Given the description of an element on the screen output the (x, y) to click on. 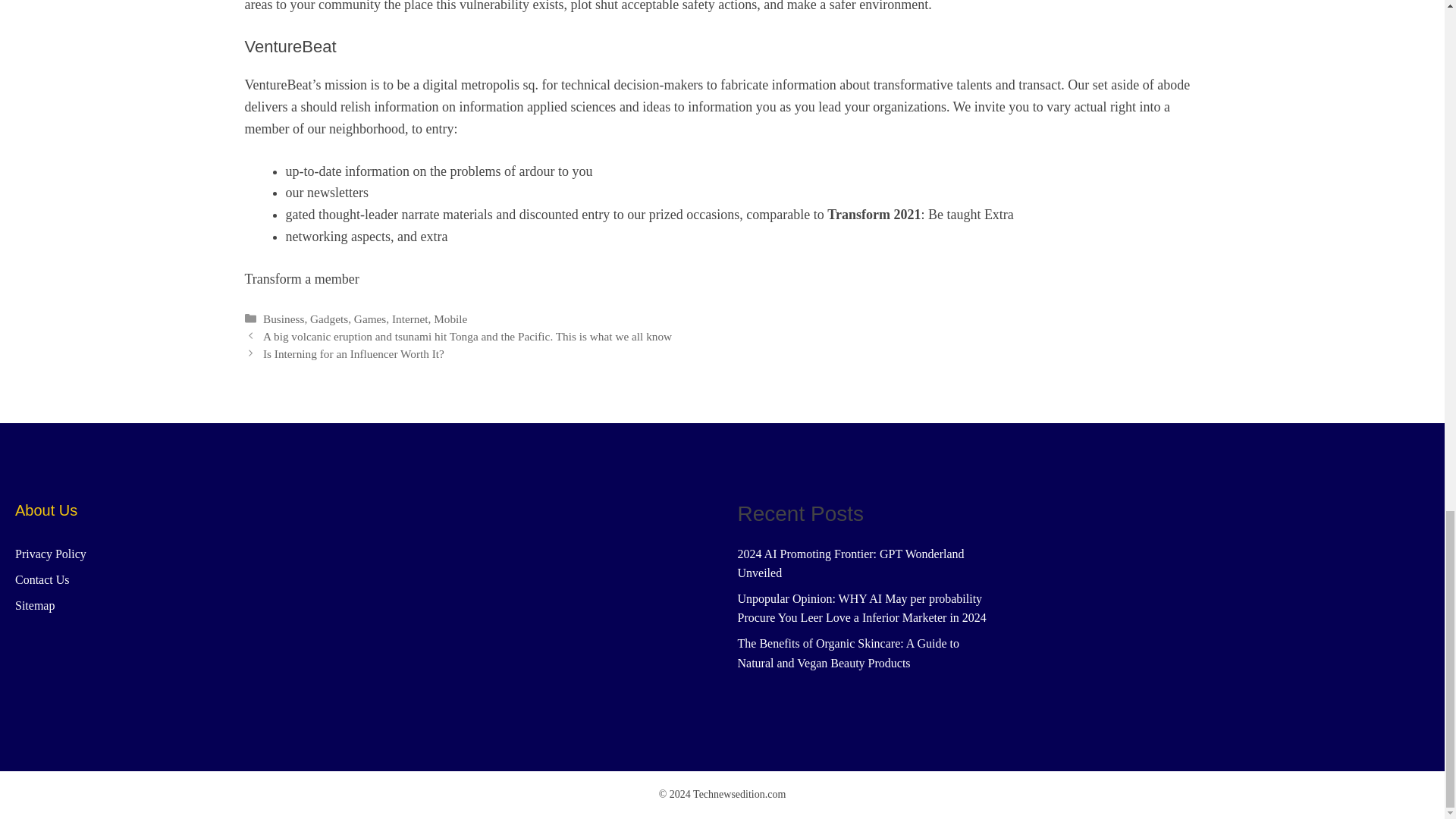
Privacy Policy (49, 553)
Gadgets (328, 318)
Is Interning for an Influencer Worth It? (353, 352)
Business (283, 318)
Mobile (450, 318)
Scroll back to top (1406, 161)
2024 AI Promoting Frontier: GPT Wonderland Unveiled (849, 563)
